Given the description of an element on the screen output the (x, y) to click on. 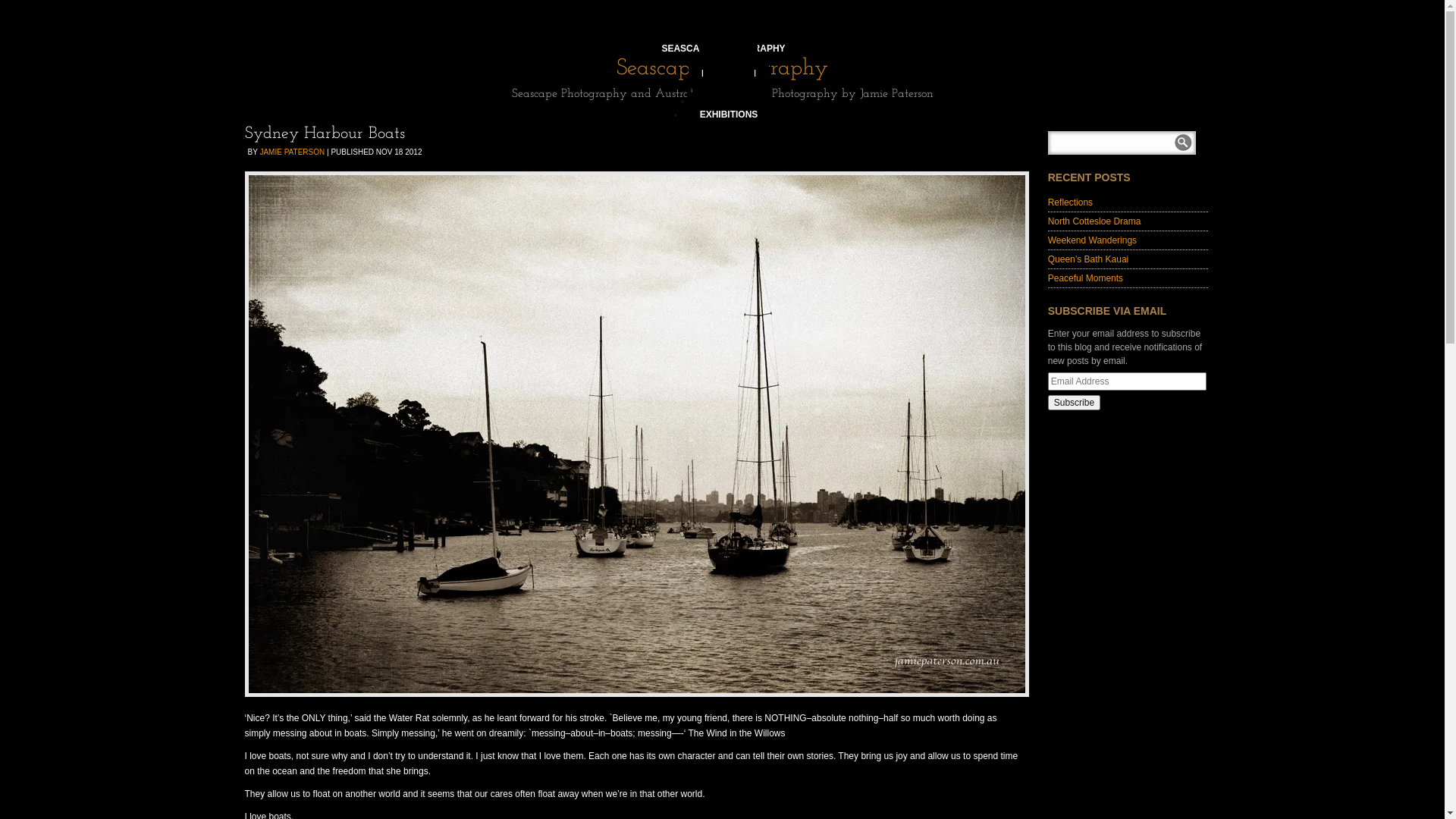
ABOUT Element type: text (728, 55)
SEASCAPE PHOTOGRAPHY Element type: text (722, 44)
BLOG Element type: text (728, 83)
GALLERIES Element type: text (729, 33)
sydney harbour boats Element type: hover (636, 433)
HOME Element type: text (728, 19)
North Cottesloe Drama Element type: text (1094, 221)
CONTACT Element type: text (728, 96)
Search Element type: text (1183, 143)
JAMIE PATERSON Element type: text (291, 151)
Weekend Wanderings Element type: text (1092, 240)
INSTAGRAM Element type: text (728, 69)
EXHIBITIONS Element type: text (729, 110)
Reflections Element type: text (1070, 202)
Subscribe Element type: text (1074, 402)
Peaceful Moments Element type: text (1085, 278)
